Given the description of an element on the screen output the (x, y) to click on. 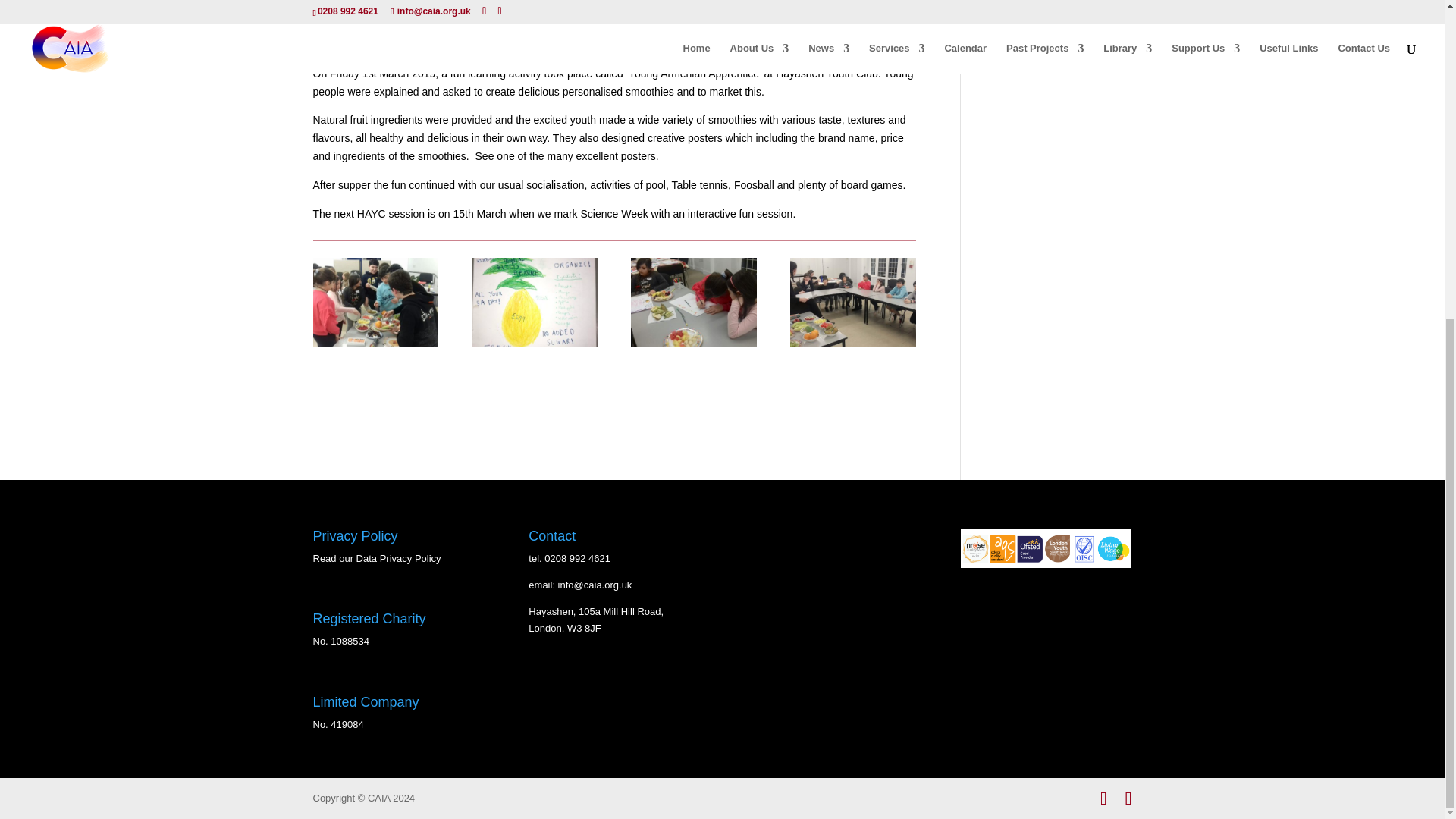
James Marlow Smoothie poster (533, 346)
